Given the description of an element on the screen output the (x, y) to click on. 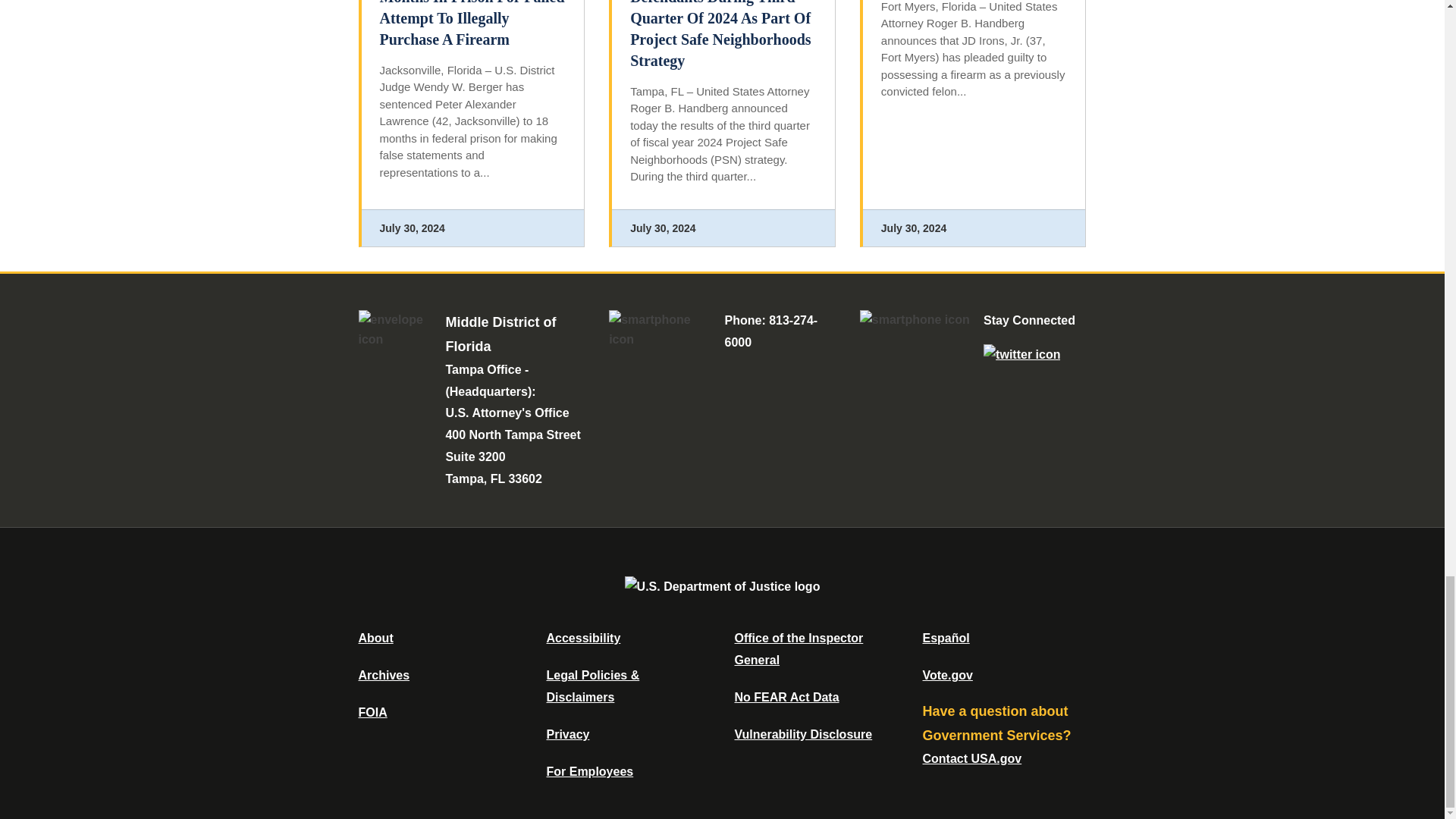
Department of Justice Archive (383, 675)
Office of Information Policy (372, 712)
Accessibility Statement (583, 637)
Data Posted Pursuant To The No Fear Act (785, 697)
Legal Policies and Disclaimers (592, 686)
About DOJ (375, 637)
For Employees (589, 771)
